Given the description of an element on the screen output the (x, y) to click on. 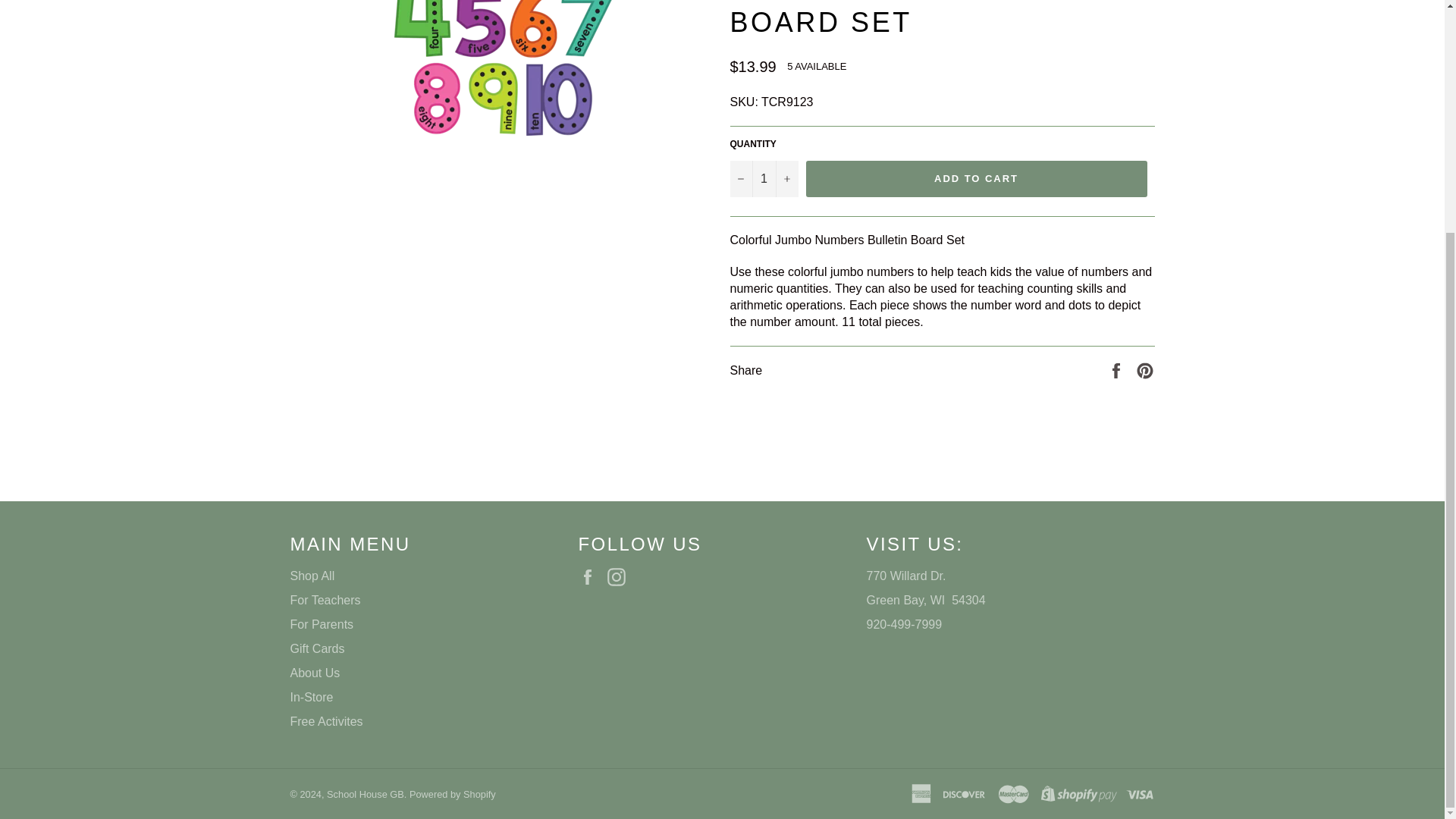
School House GB on Facebook (591, 577)
For Parents (321, 624)
1 (763, 178)
School House GB on Instagram (620, 577)
ADD TO CART (976, 178)
Pin on Pinterest (1144, 369)
Share on Facebook (1117, 369)
Shop All (311, 575)
Gift Cards (316, 648)
For Teachers (324, 599)
About Us (314, 672)
Pin on Pinterest (1144, 369)
Share on Facebook (1117, 369)
